Given the description of an element on the screen output the (x, y) to click on. 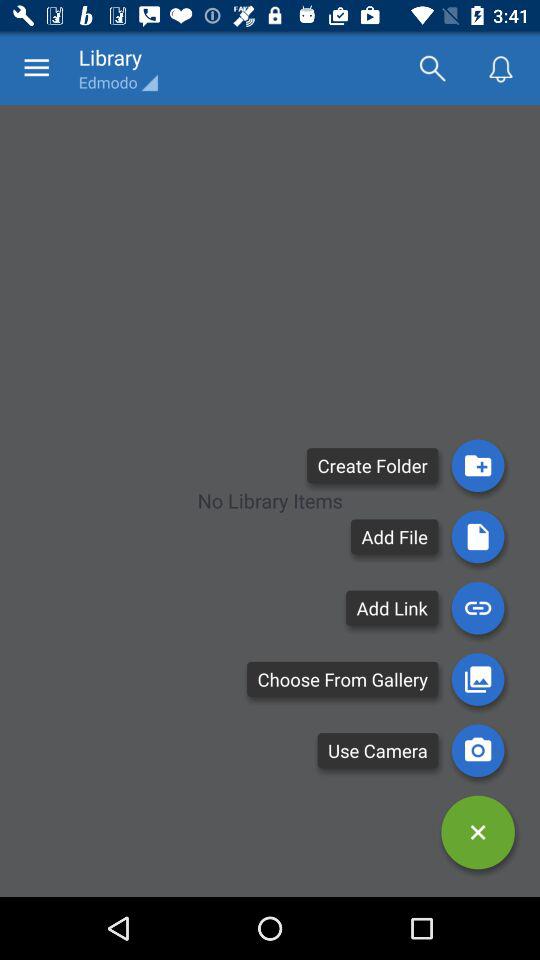
select picture (478, 679)
